Given the description of an element on the screen output the (x, y) to click on. 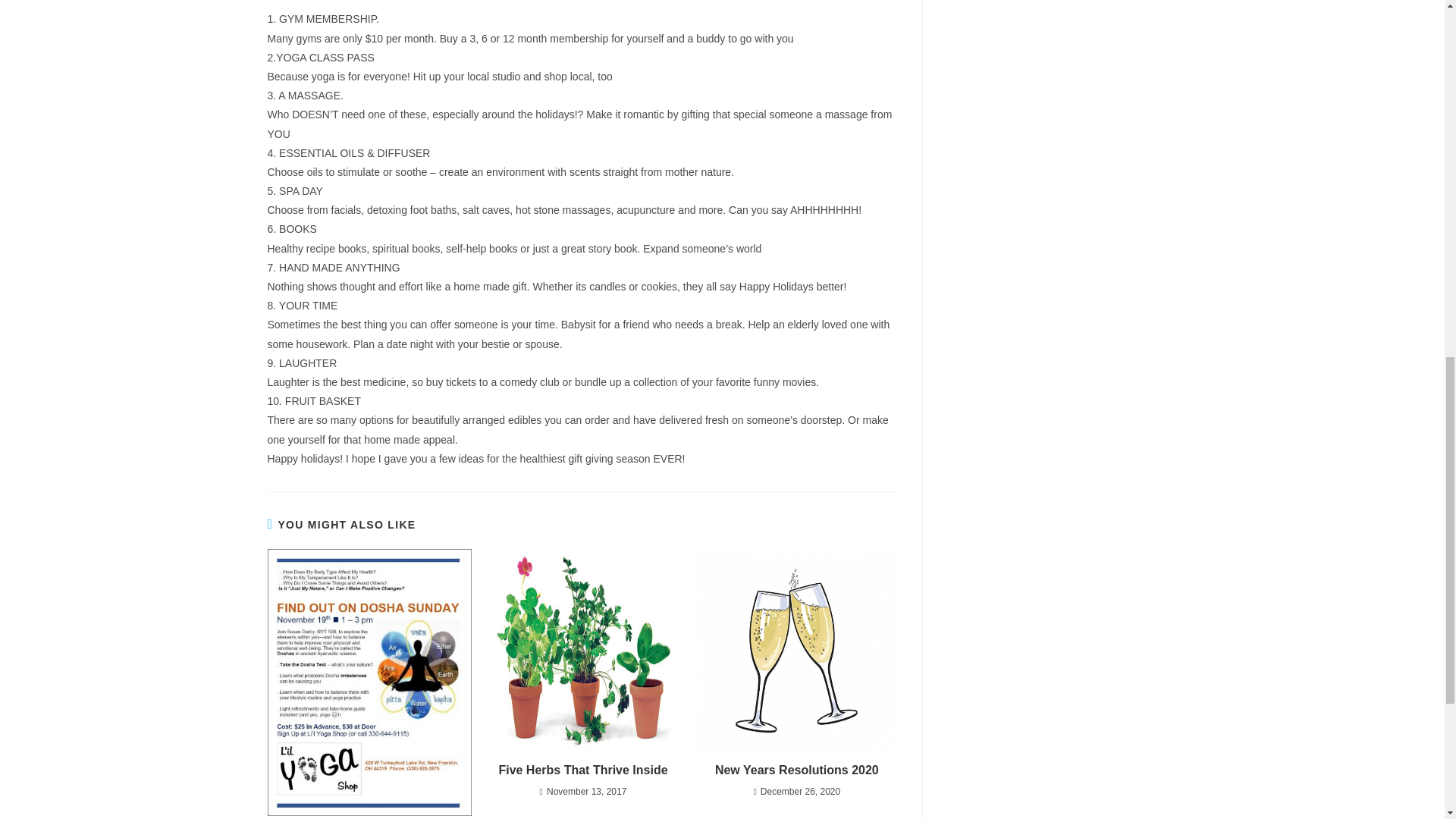
Five Herbs That Thrive Inside (582, 770)
New Years Resolutions 2020 (796, 770)
